Given the description of an element on the screen output the (x, y) to click on. 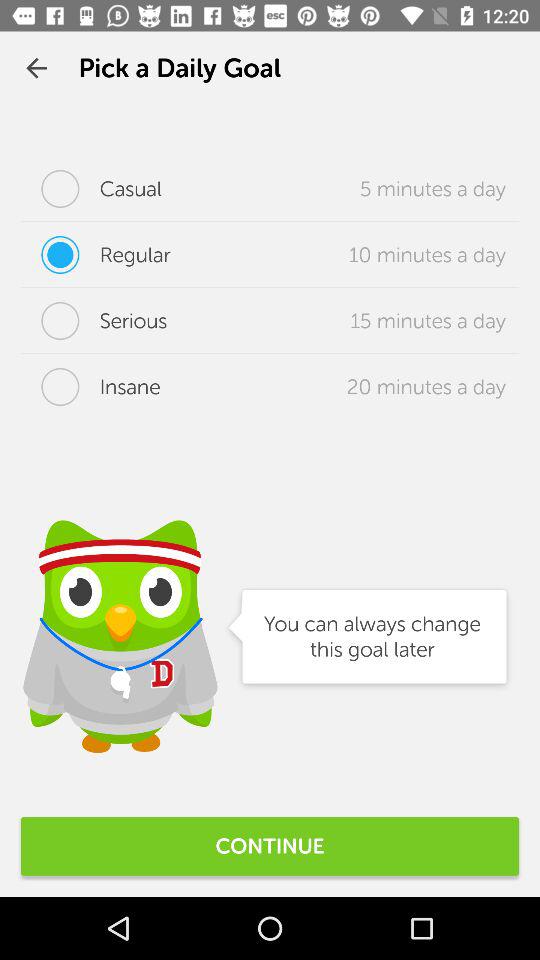
choose icon to the left of the 10 minutes a item (95, 255)
